Given the description of an element on the screen output the (x, y) to click on. 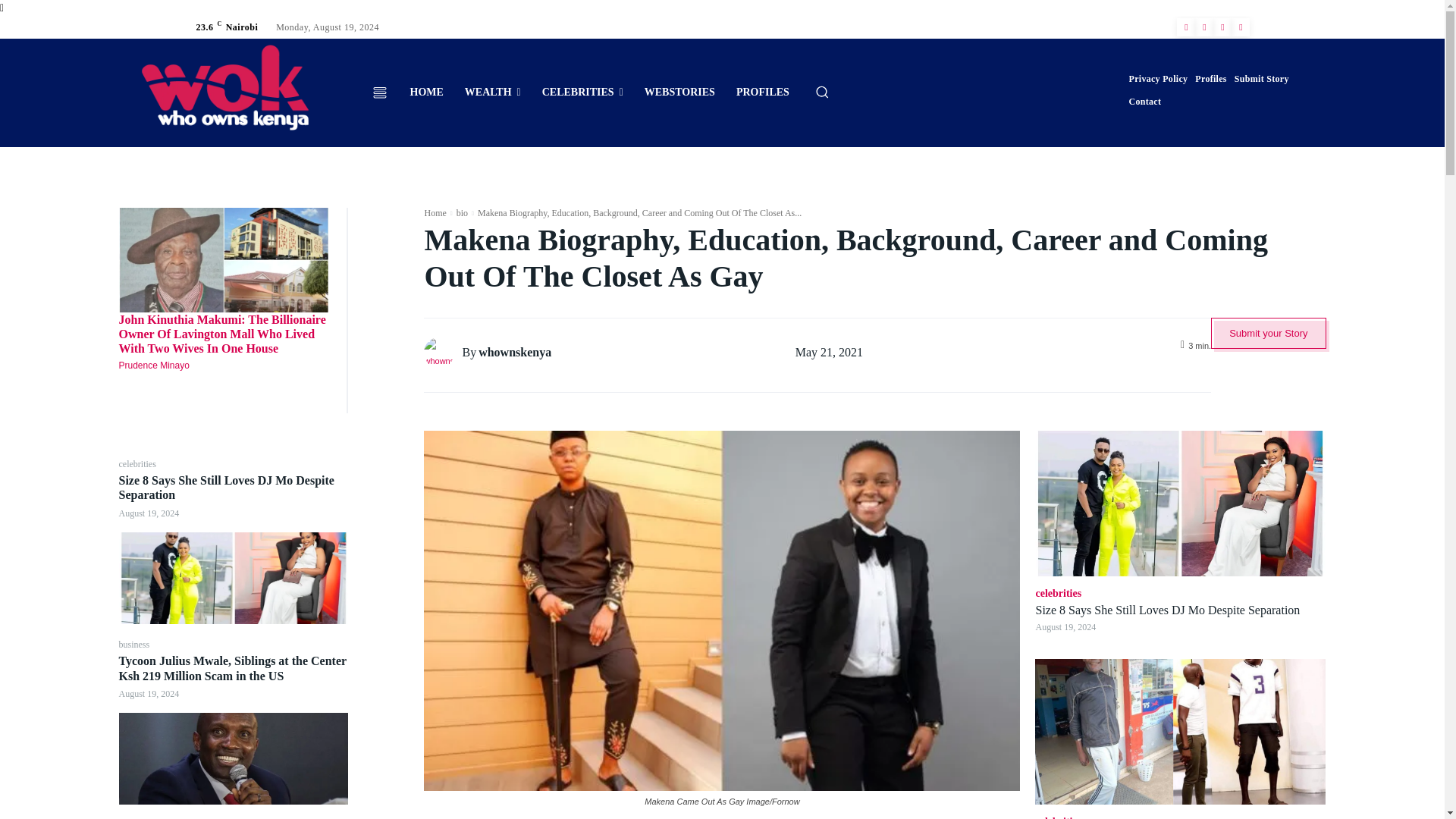
Youtube (1240, 27)
Instagram (1203, 27)
Facebook (1185, 27)
Twitter (1221, 27)
